Given the description of an element on the screen output the (x, y) to click on. 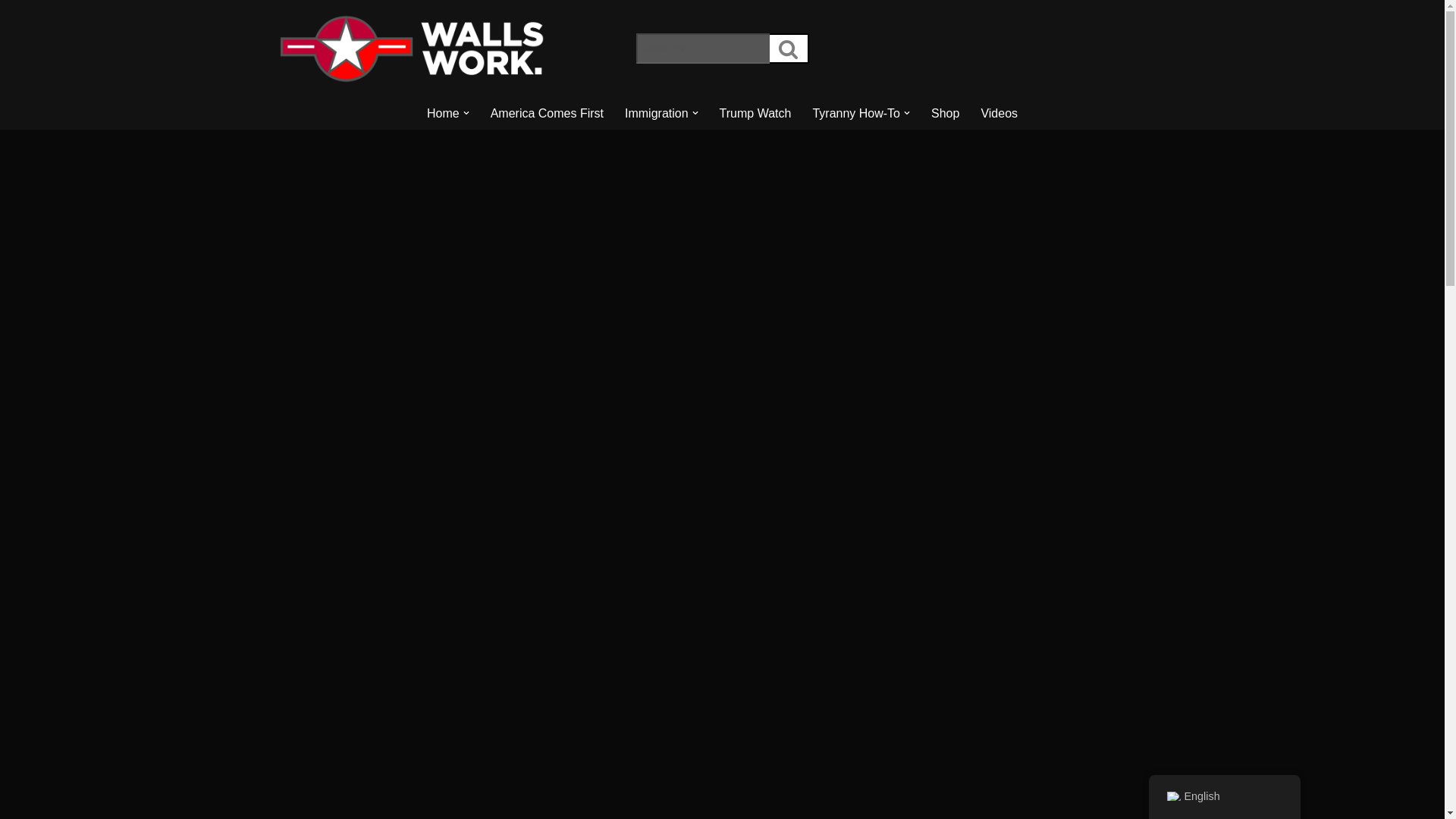
Videos (998, 113)
Tyranny How-To (855, 113)
Trump Watch (755, 113)
America Comes First (547, 113)
Shop (945, 113)
Home (443, 113)
Immigration (656, 113)
Skip to content (11, 31)
English (1172, 795)
